Given the description of an element on the screen output the (x, y) to click on. 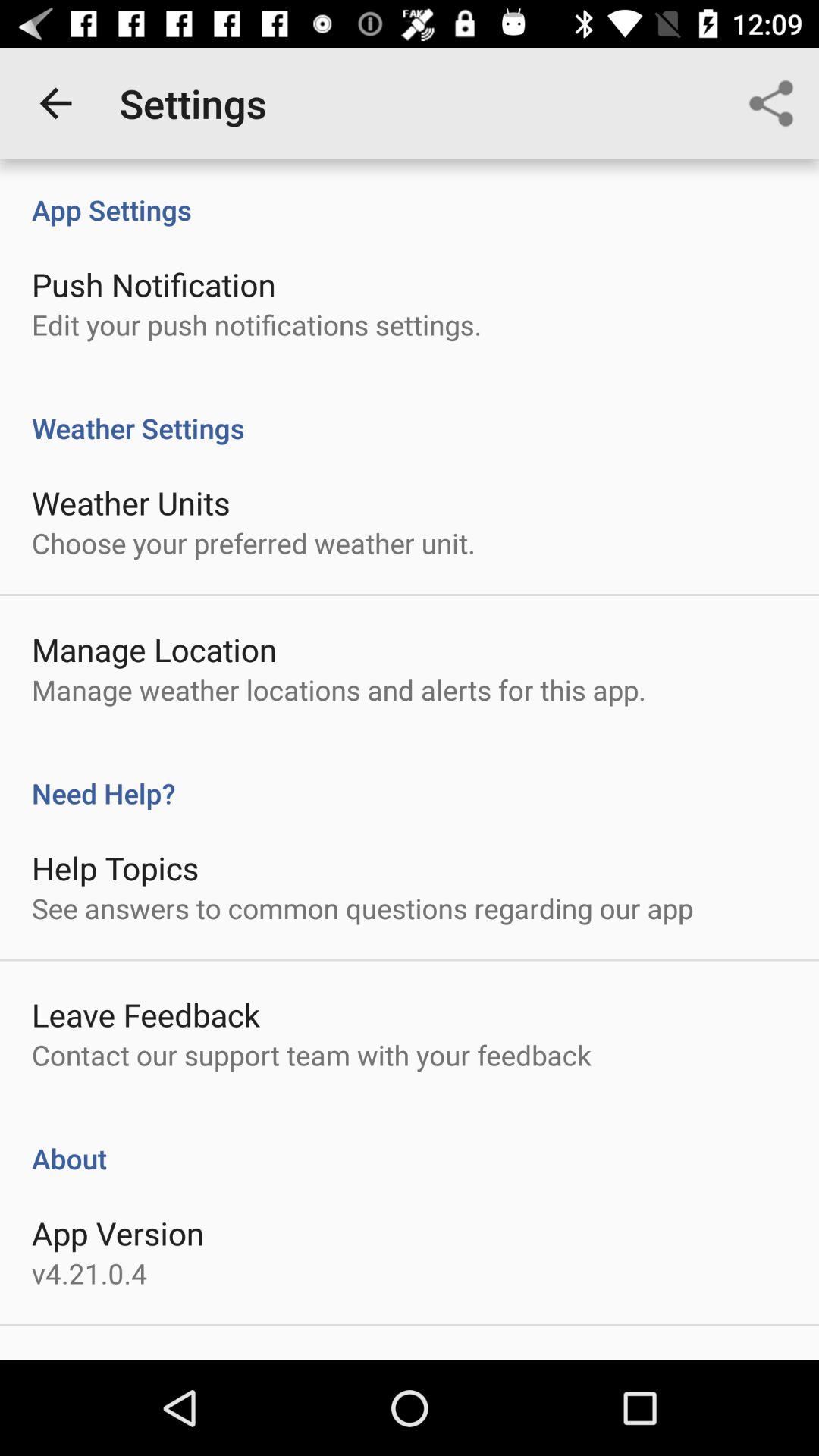
choose item above weather units icon (409, 412)
